Given the description of an element on the screen output the (x, y) to click on. 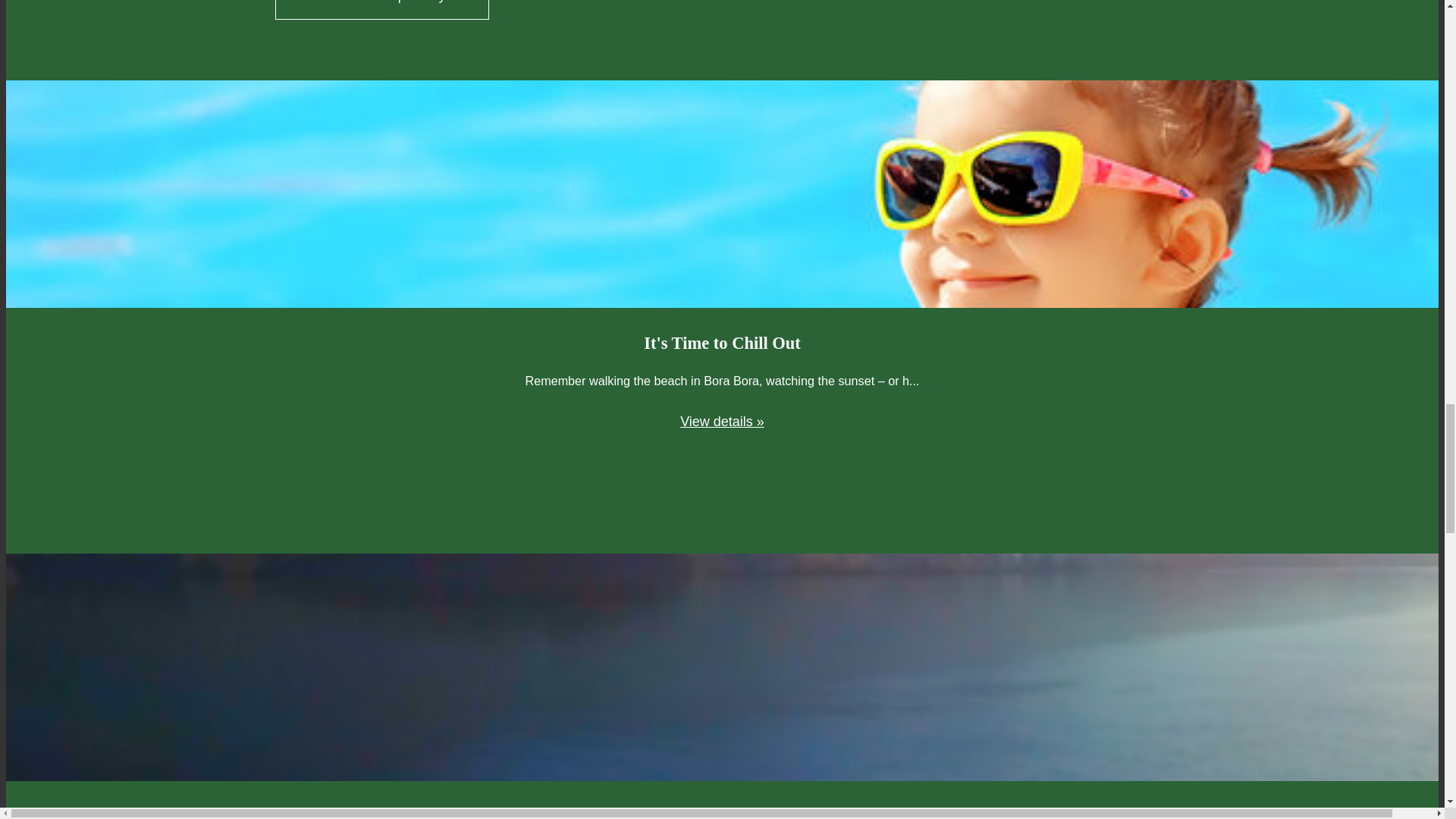
Start Your Trip Today (382, 9)
